Given the description of an element on the screen output the (x, y) to click on. 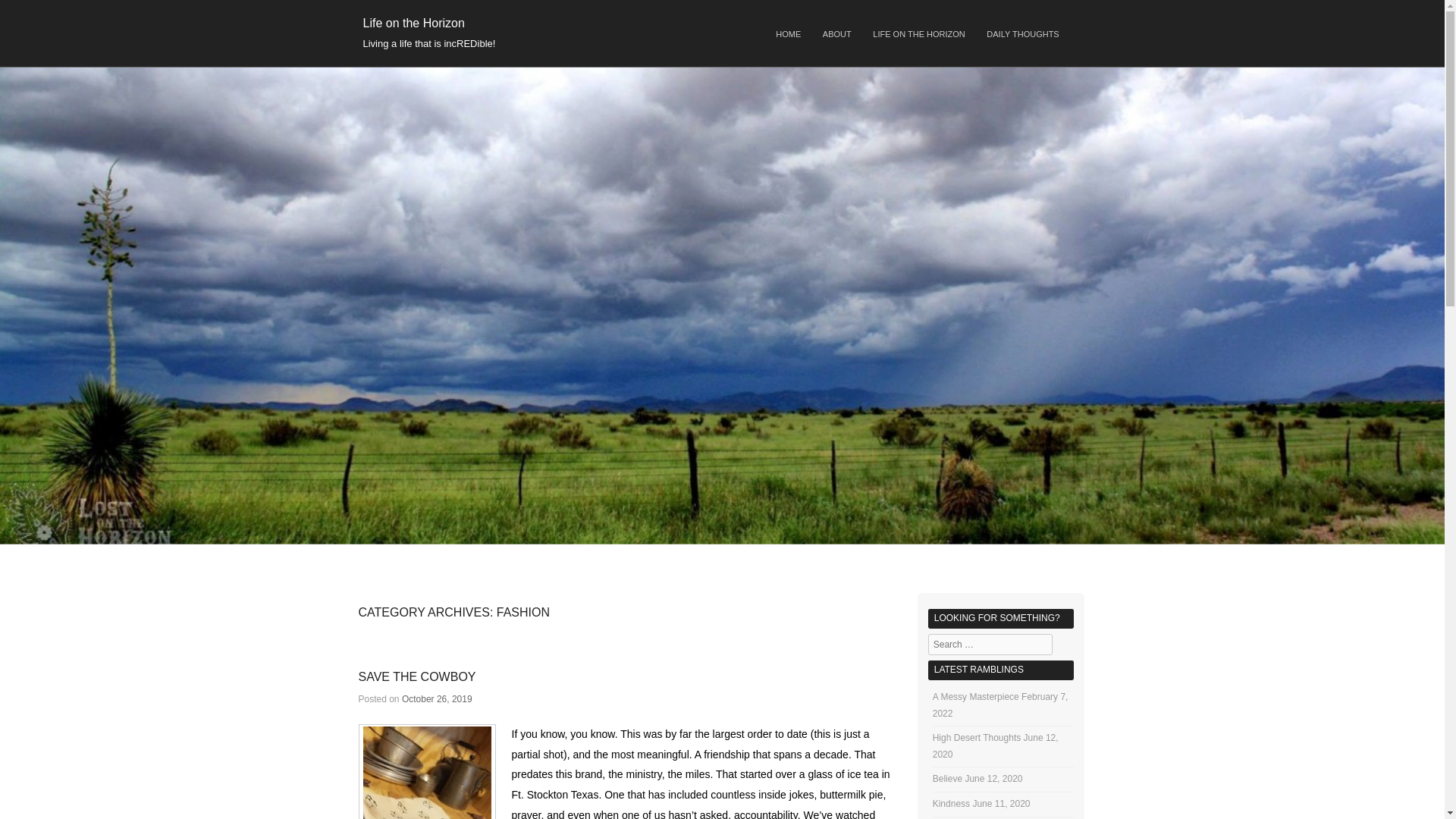
Search (26, 14)
October 26, 2019 (436, 698)
Life on the Horizon (413, 22)
Life on the Horizon (413, 22)
Permalink to Save the Cowboy (417, 676)
SKIP TO CONTENT (620, 28)
HOME (788, 34)
LIFE ON THE HORIZON (919, 34)
A Messy Masterpiece (976, 696)
ABOUT (837, 34)
